Given the description of an element on the screen output the (x, y) to click on. 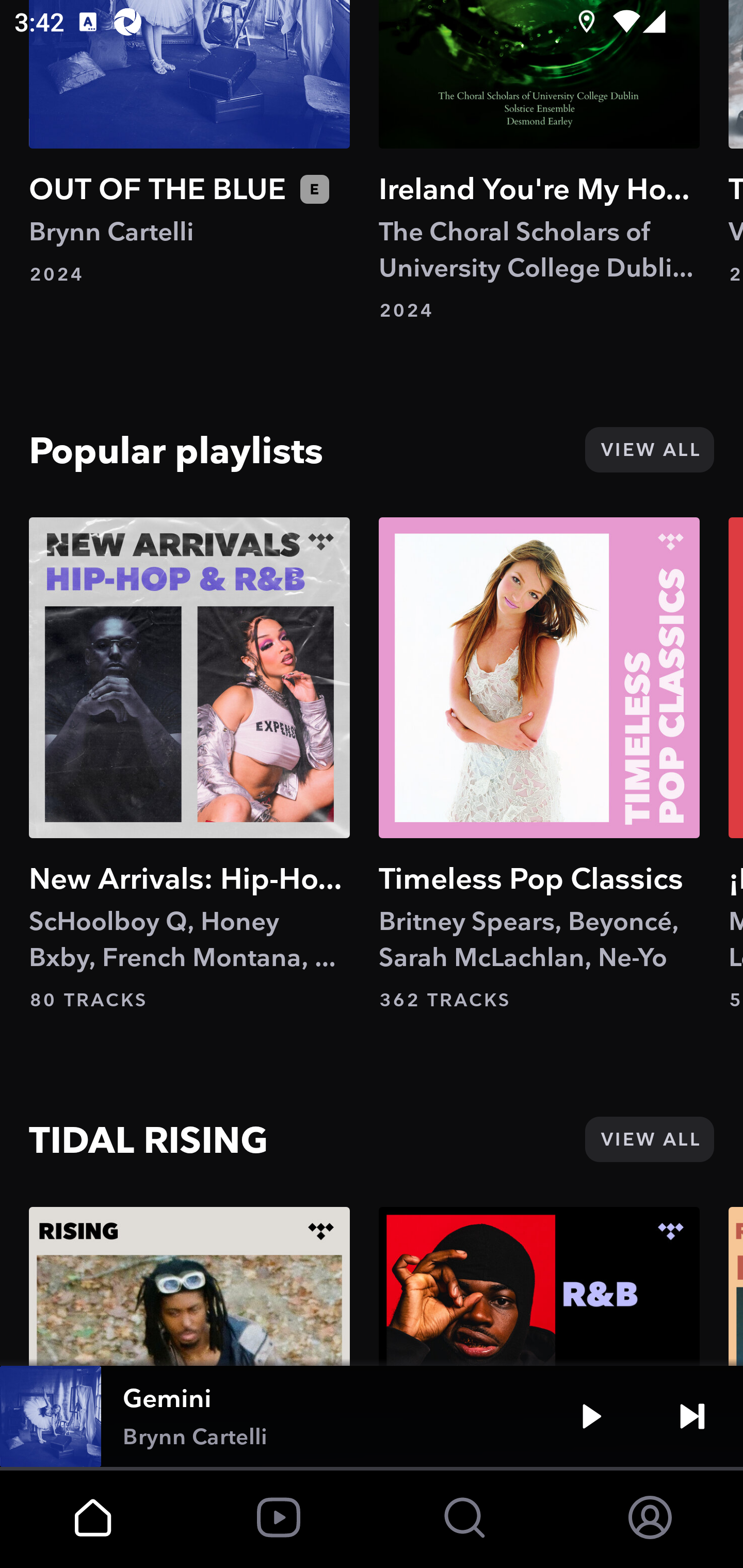
OUT OF THE BLUE Brynn Cartelli 2024 (188, 143)
VIEW ALL (649, 448)
VIEW ALL (649, 1138)
Gemini Brynn Cartelli Play (371, 1416)
Play (590, 1416)
